Given the description of an element on the screen output the (x, y) to click on. 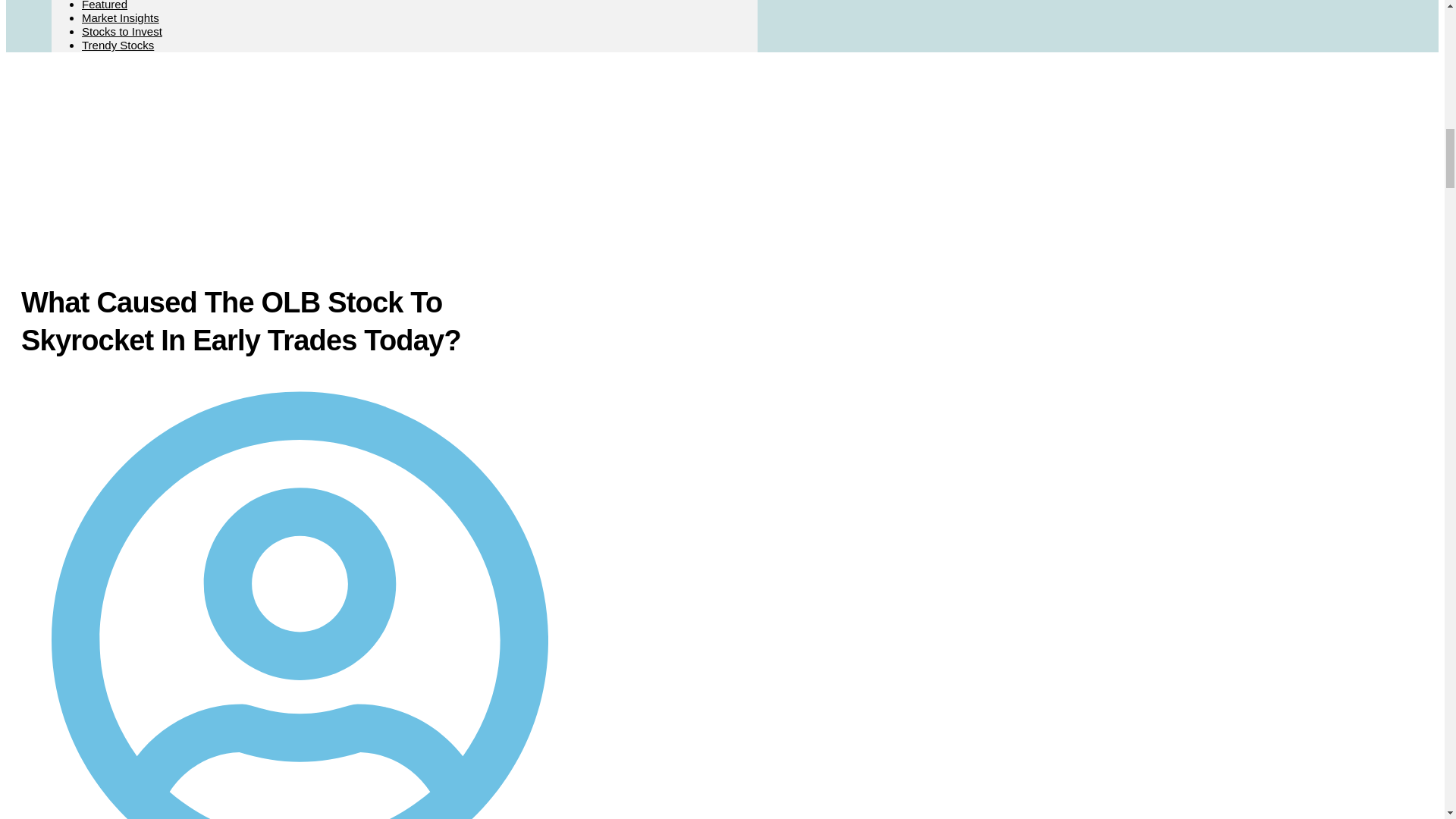
Trendy Stocks (117, 44)
Market Insights (119, 17)
Featured (104, 5)
Stocks to Invest (121, 31)
